Given the description of an element on the screen output the (x, y) to click on. 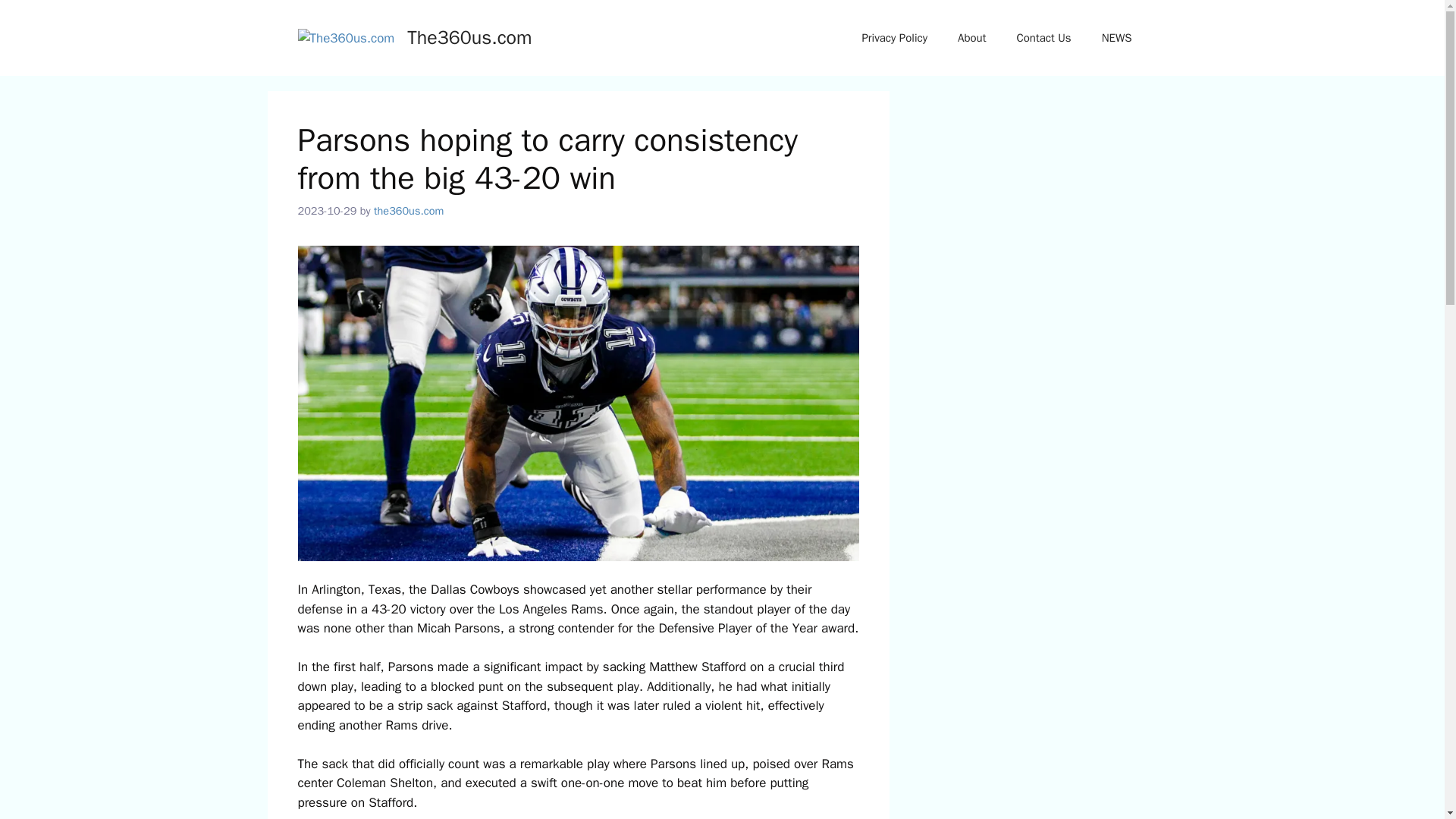
Privacy Policy (893, 37)
Contact Us (1043, 37)
About (971, 37)
View all posts by the360us.com (409, 210)
The360us.com (469, 37)
NEWS (1116, 37)
the360us.com (409, 210)
